Given the description of an element on the screen output the (x, y) to click on. 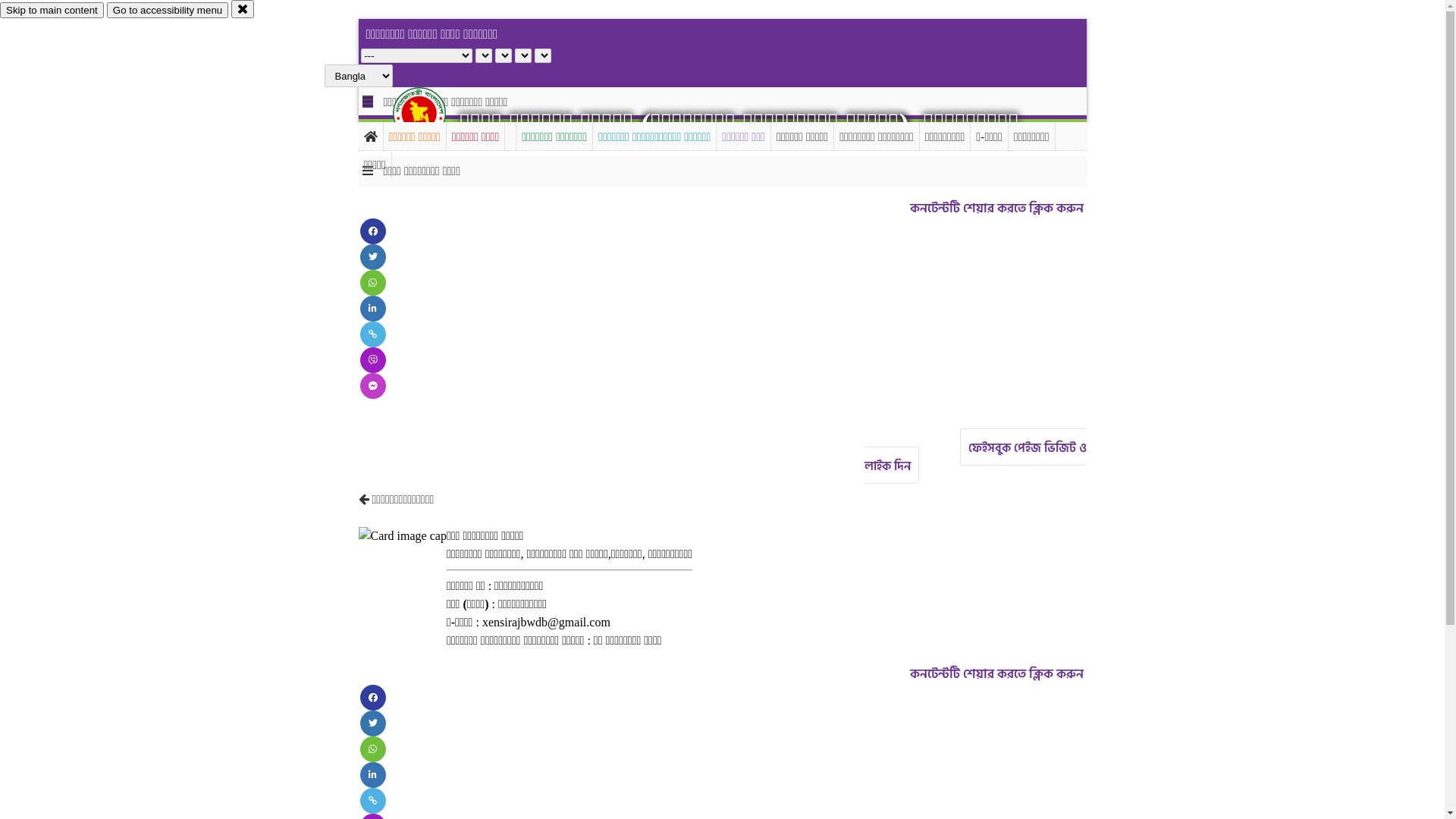
close Element type: hover (242, 9)
Go to accessibility menu Element type: text (167, 10)
Skip to main content Element type: text (51, 10)

                
             Element type: hover (431, 112)
